Given the description of an element on the screen output the (x, y) to click on. 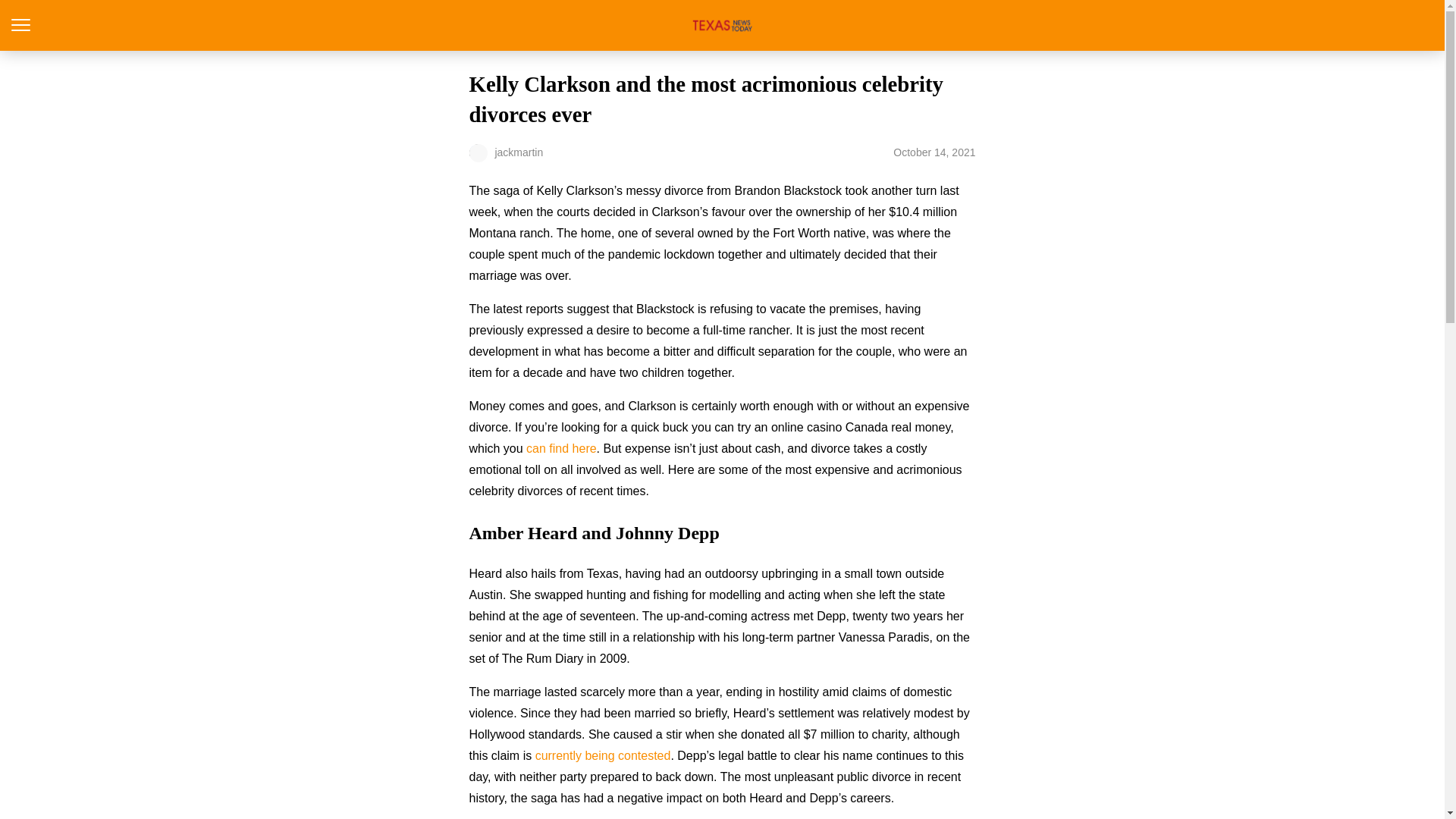
Texasnewstoday.com (721, 25)
currently being contested (603, 755)
can find here (560, 448)
